Given the description of an element on the screen output the (x, y) to click on. 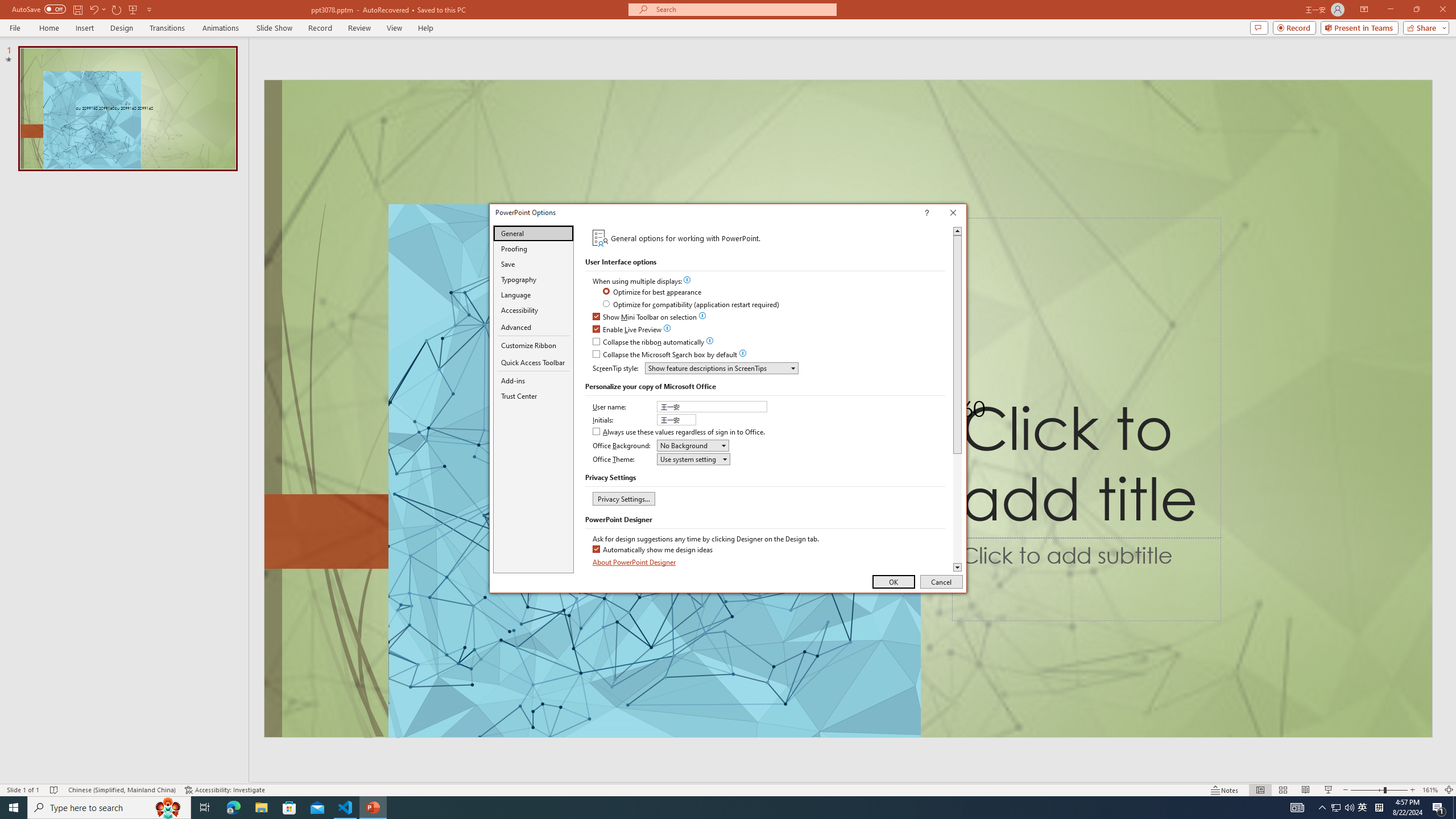
Initials (676, 419)
Open (724, 458)
Add-ins (533, 380)
OK (893, 581)
User Promoted Notification Area (1342, 807)
Tray Input Indicator - Chinese (Simplified, China) (1378, 807)
Zoom 161% (1430, 790)
Slide (127, 108)
